Given the description of an element on the screen output the (x, y) to click on. 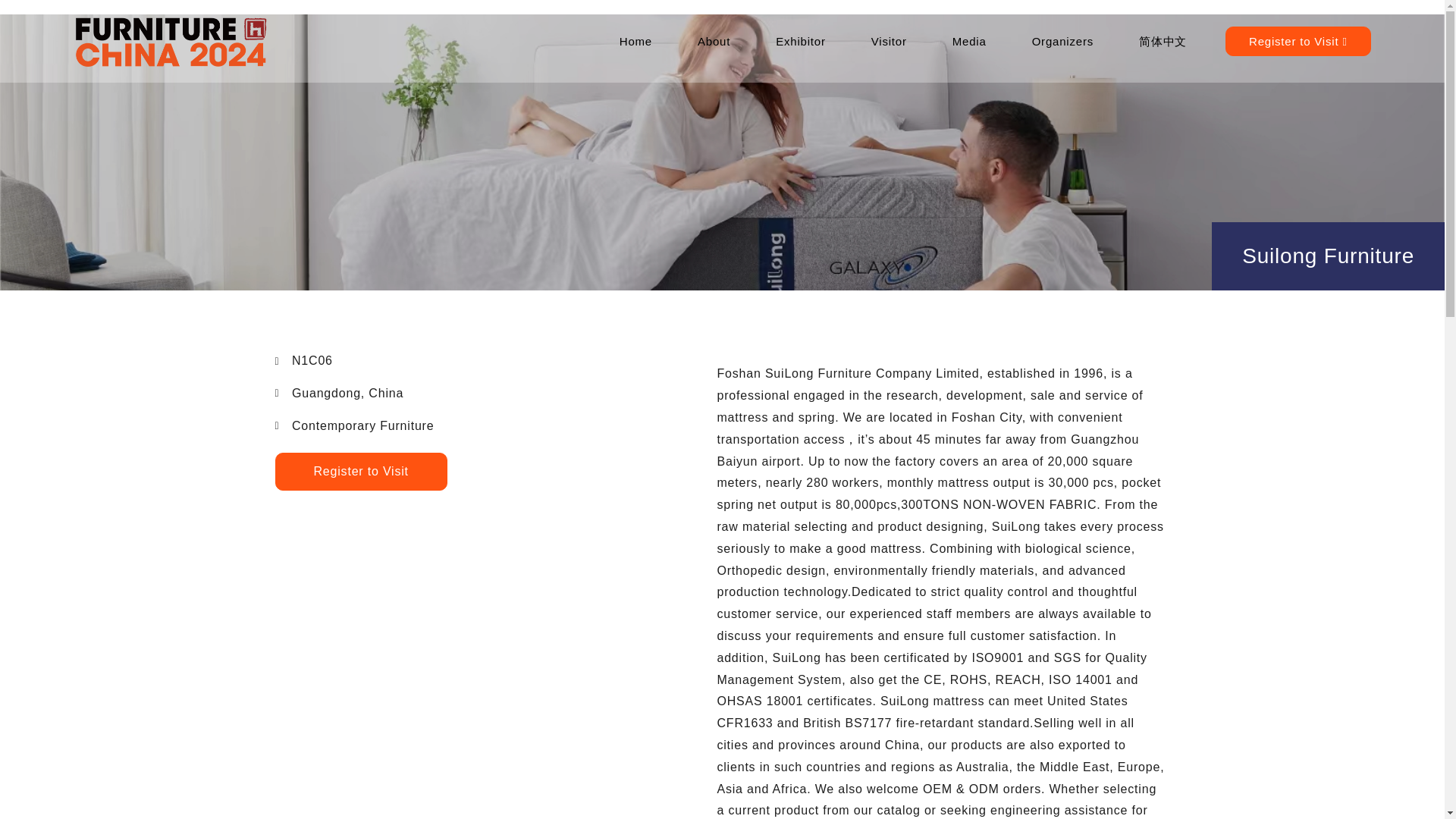
Media (969, 41)
Visitor (889, 41)
Home (635, 41)
Exhibitor (800, 41)
Organizers (1062, 41)
About (713, 41)
